Given the description of an element on the screen output the (x, y) to click on. 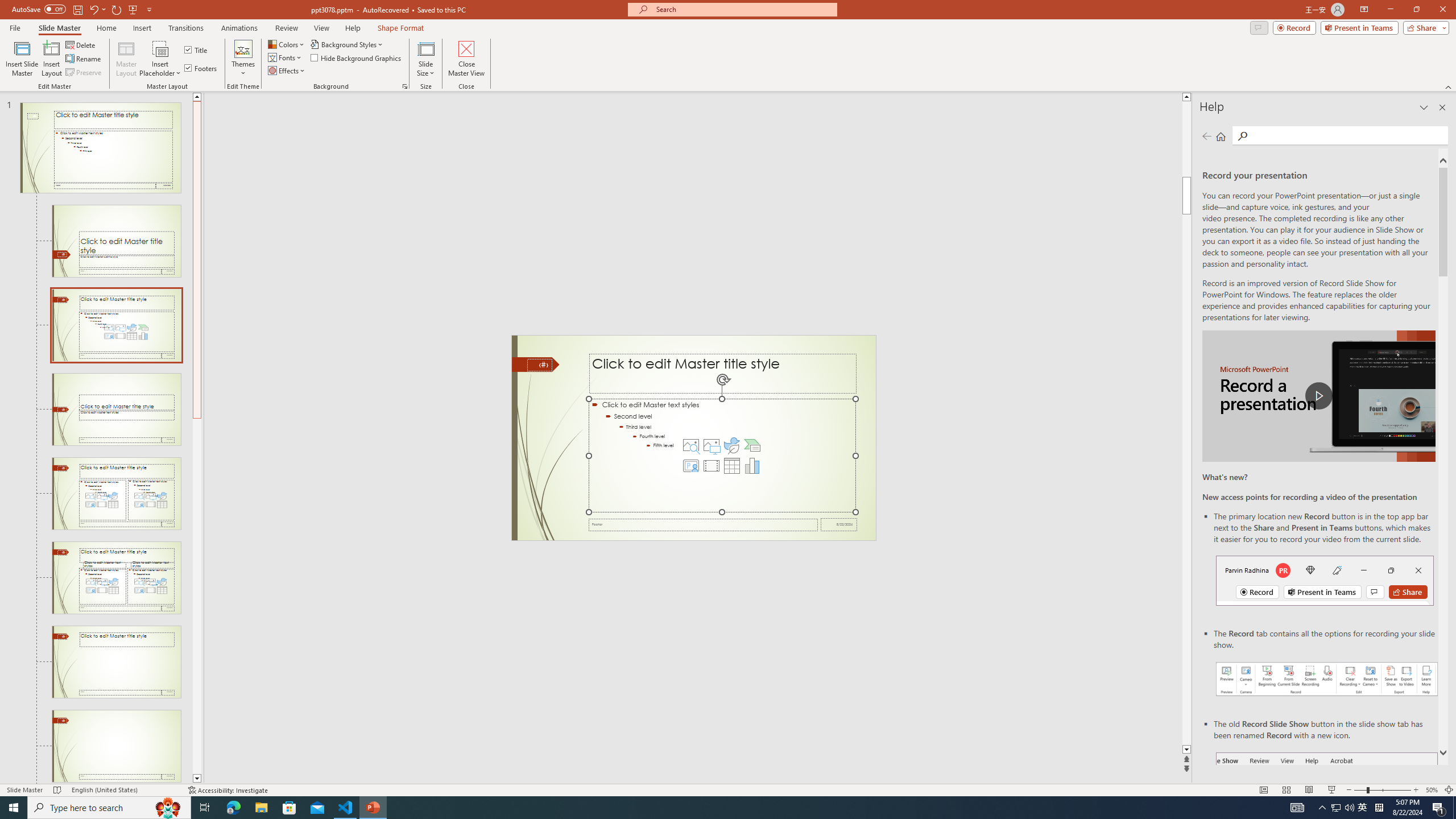
Slide Master (59, 28)
Content Placeholder (722, 455)
Slide Wisp Slide Master: used by slide(s) 1 (100, 147)
Themes (243, 58)
Insert Cameo (690, 466)
Close Master View (466, 58)
Slide Title Only Layout: used by no slides (116, 661)
Footers (201, 67)
Date (839, 524)
